Given the description of an element on the screen output the (x, y) to click on. 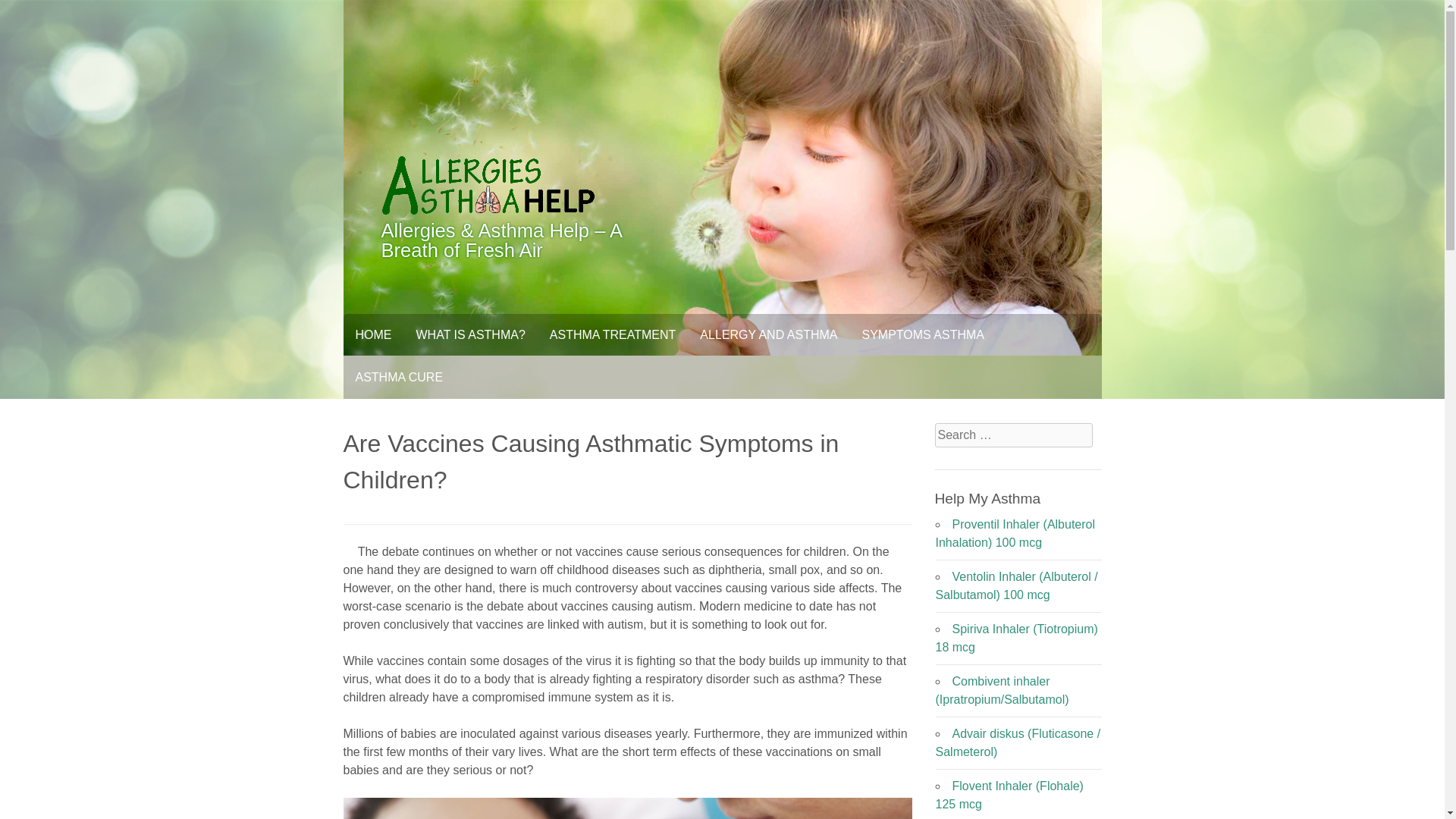
HOME (372, 334)
ASTHMA CURE (398, 377)
ASTHMA TREATMENT (612, 334)
Search (24, 9)
WHAT IS ASTHMA? (470, 334)
Are Vaccines Causing Asthmatic Symptoms in Children? (626, 808)
ALLERGY AND ASTHMA (767, 334)
SYMPTOMS ASTHMA (921, 334)
